Given the description of an element on the screen output the (x, y) to click on. 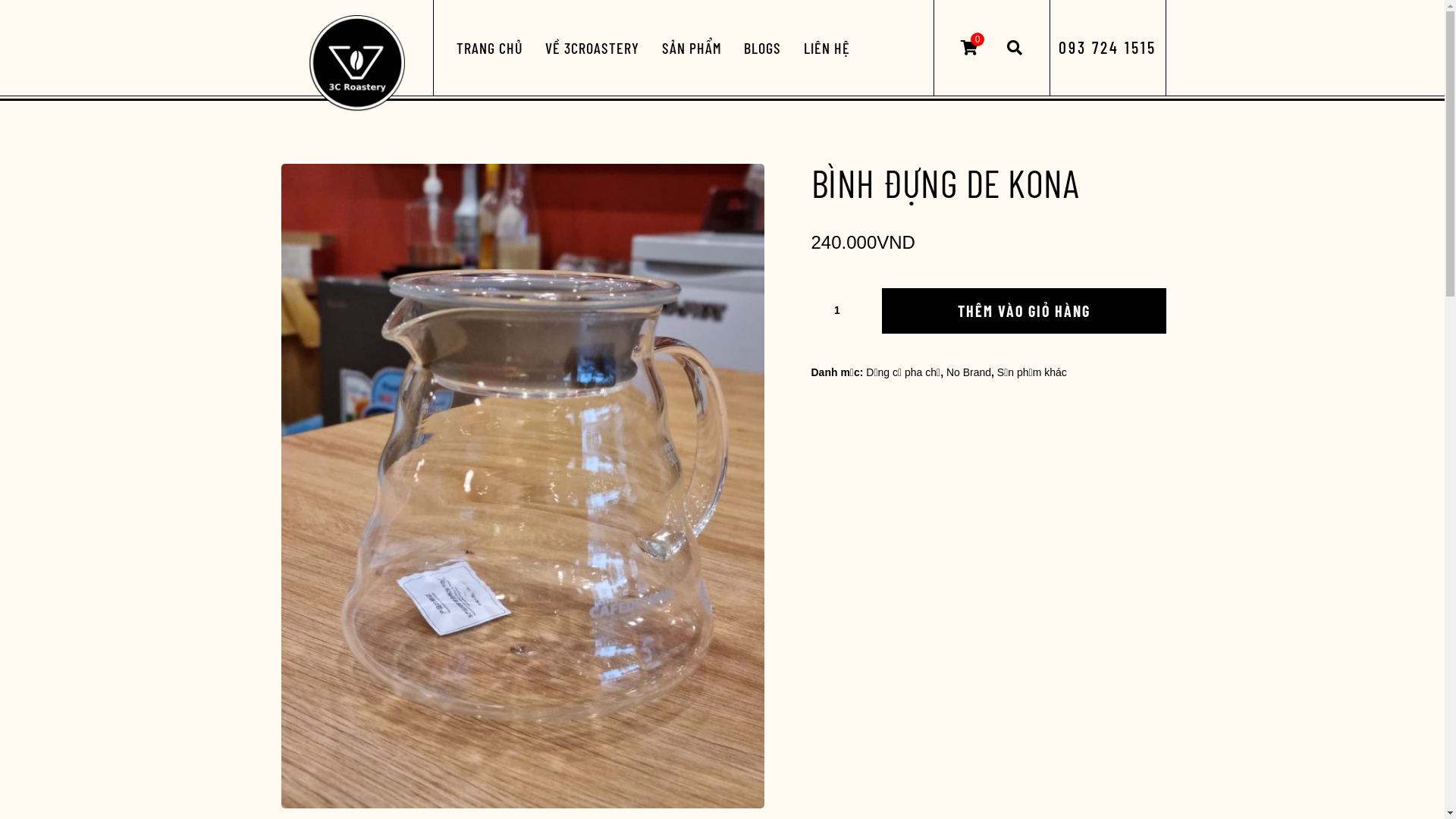
0 Element type: text (968, 47)
6028df49694da413fd5c Element type: hover (522, 485)
BLOGS Element type: text (762, 47)
No Brand Element type: text (968, 372)
3C Roastery Element type: hover (355, 64)
SL Element type: hover (843, 309)
093 724 1515 Element type: text (1107, 46)
